Given the description of an element on the screen output the (x, y) to click on. 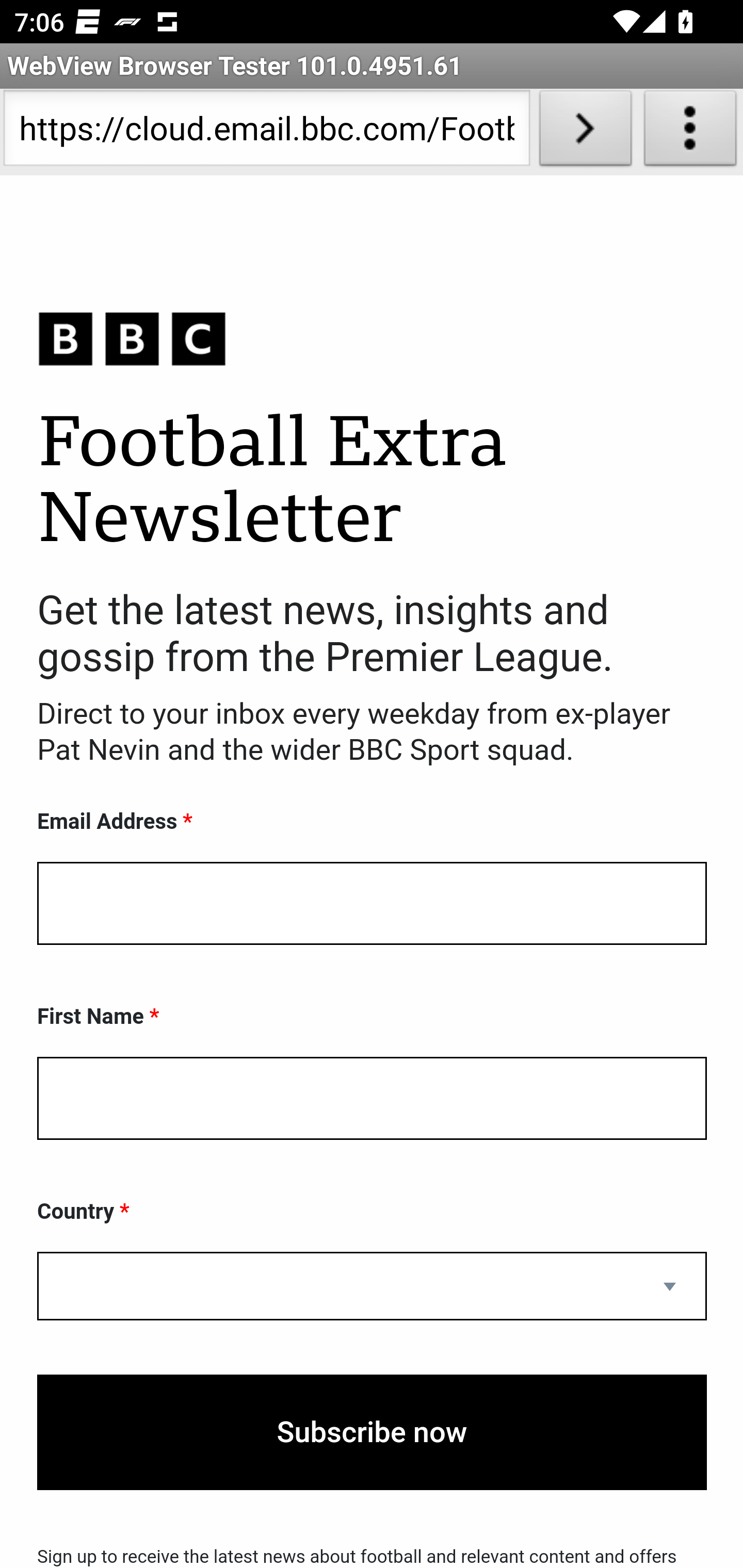
Load URL (585, 132)
About WebView (690, 132)
BBC (372, 338)
Subscribe now (372, 1432)
